Given the description of an element on the screen output the (x, y) to click on. 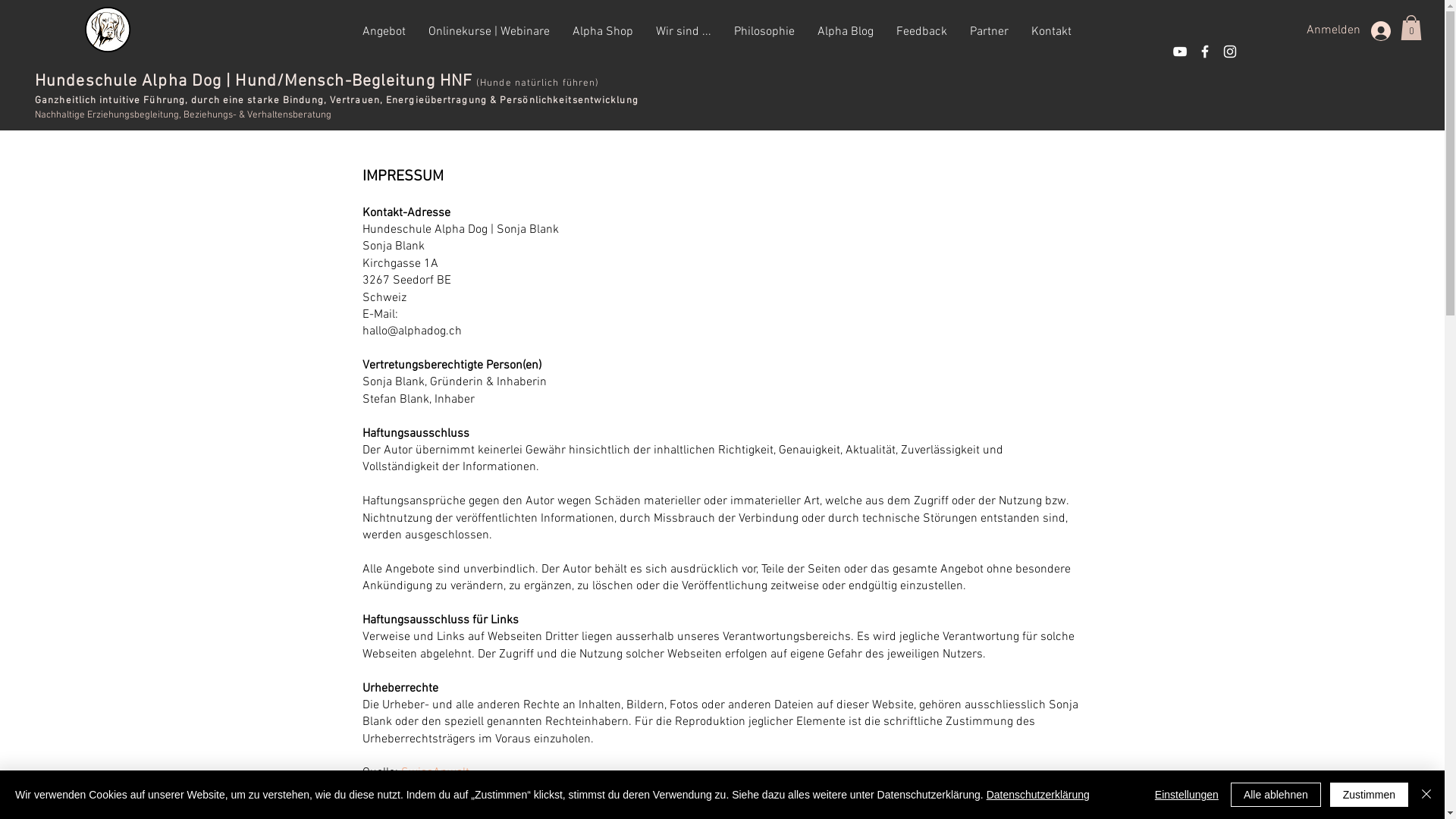
SwissAnwalt Element type: text (434, 772)
Kontakt Element type: text (1050, 31)
0 Element type: text (1410, 27)
Philosophie Element type: text (763, 31)
Angebot Element type: text (383, 31)
Anmelden Element type: text (1355, 30)
Alpha Blog Element type: text (844, 31)
Onlinekurse | Webinare Element type: text (489, 31)
Wir sind ... Element type: text (683, 31)
Zustimmen Element type: text (1369, 794)
Feedback Element type: text (920, 31)
Alle ablehnen Element type: text (1275, 794)
Partner Element type: text (988, 31)
Alpha Shop Element type: text (602, 31)
